Given the description of an element on the screen output the (x, y) to click on. 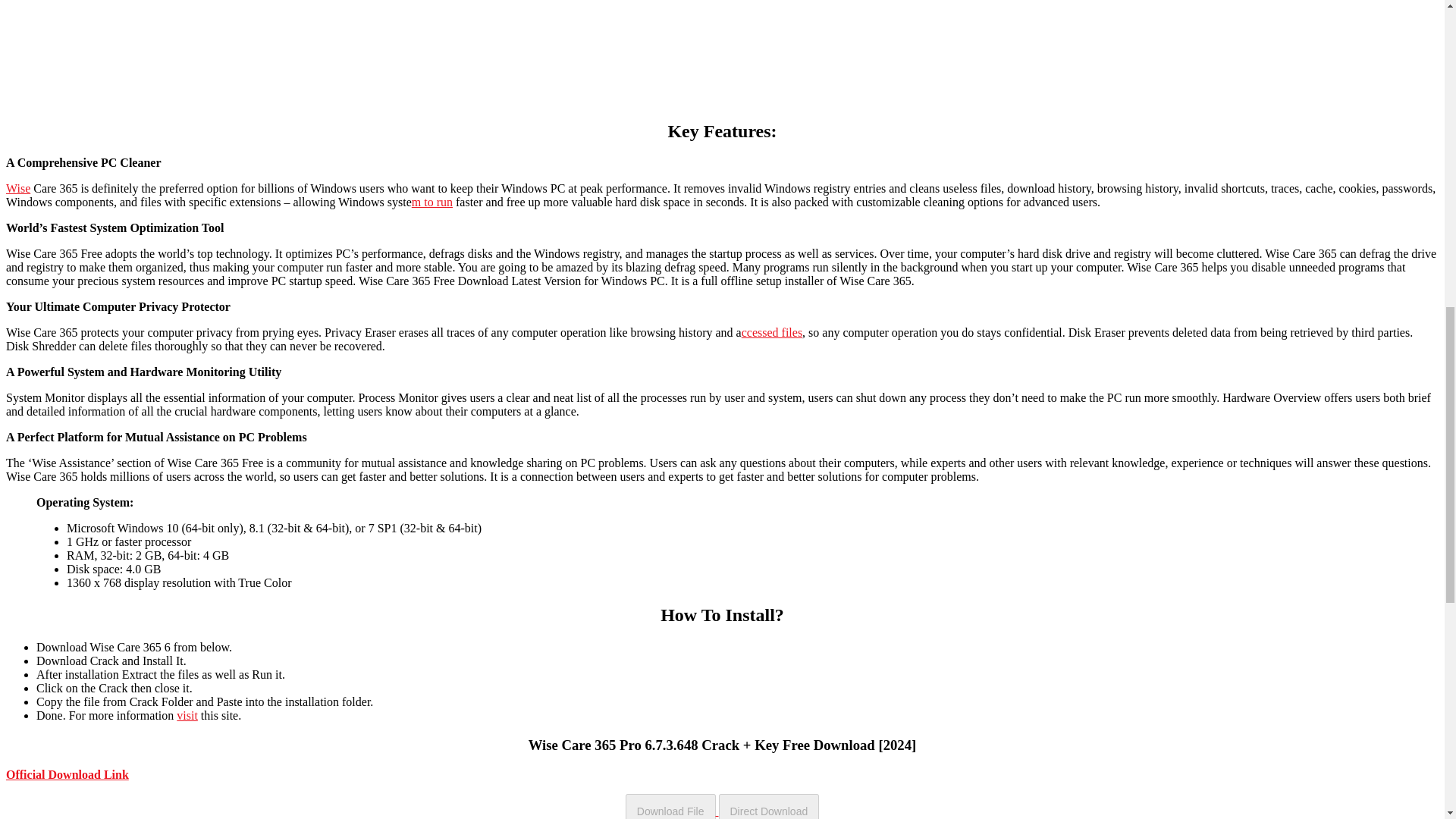
ccessed files (771, 332)
m to run (432, 201)
Wise (17, 187)
Download File Direct Download (722, 810)
Download File (671, 806)
Official Download Link (67, 774)
Direct Download (769, 806)
visit (187, 715)
